Given the description of an element on the screen output the (x, y) to click on. 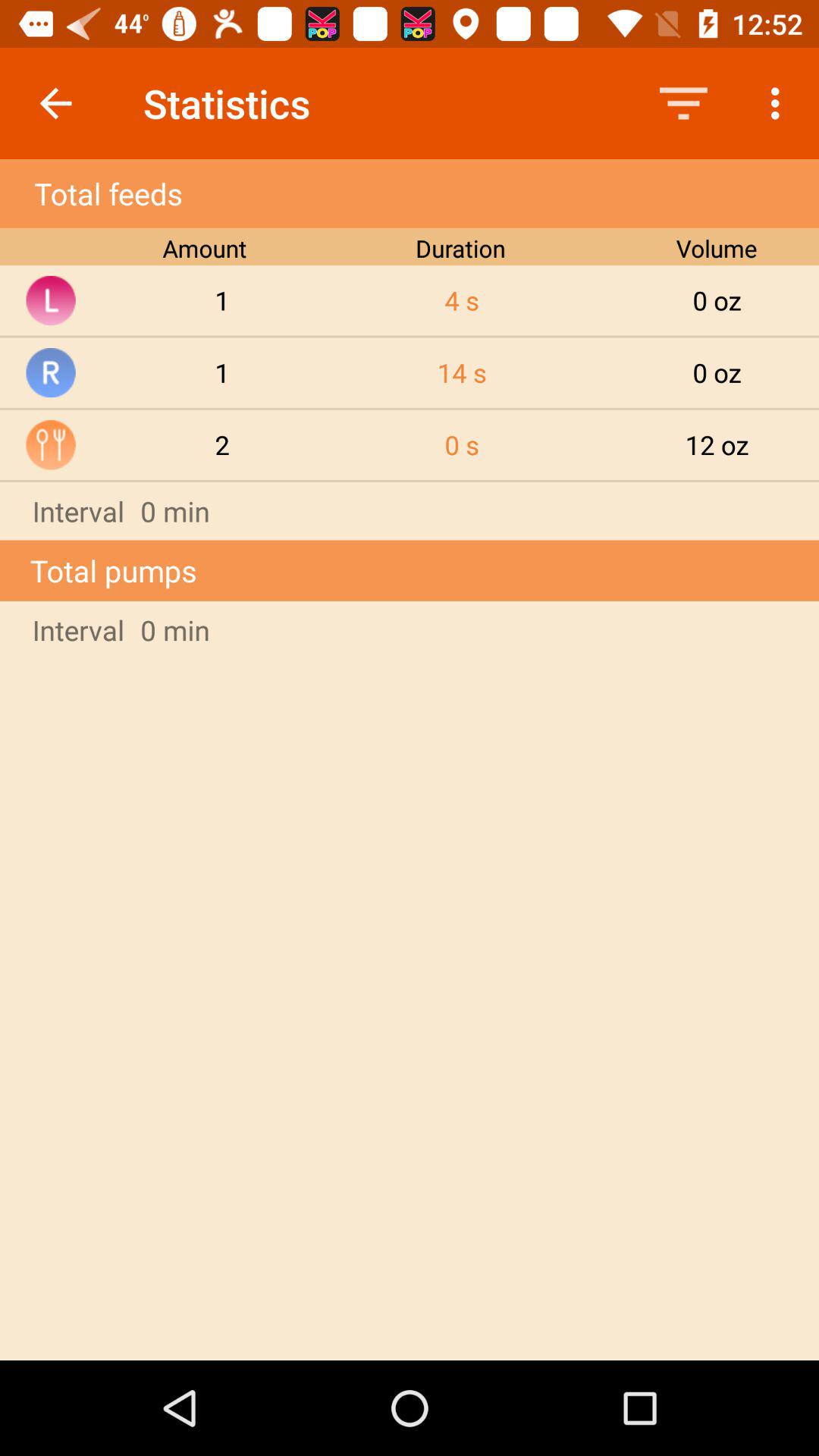
tap item next to the volume item (461, 300)
